Given the description of an element on the screen output the (x, y) to click on. 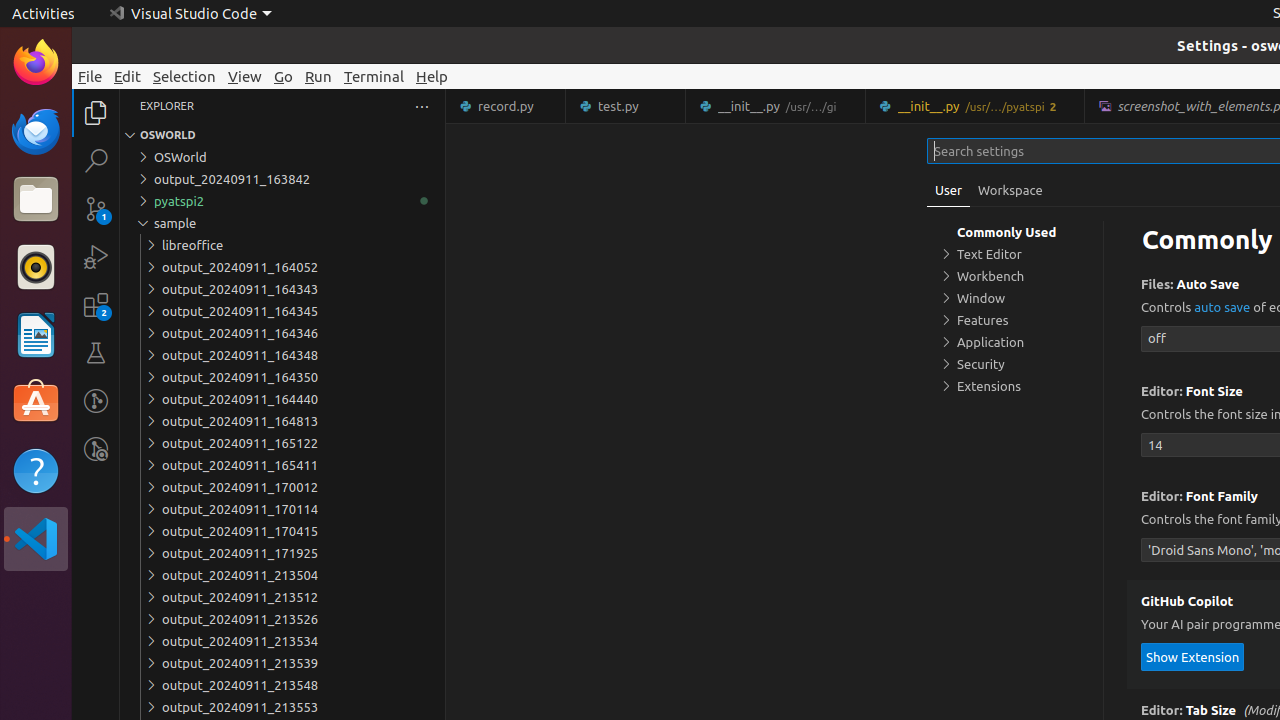
View Element type: push-button (245, 76)
output_20240911_165122 Element type: tree-item (282, 443)
output_20240911_164813 Element type: tree-item (282, 421)
Go Element type: push-button (283, 76)
output_20240911_213534 Element type: tree-item (282, 641)
